Given the description of an element on the screen output the (x, y) to click on. 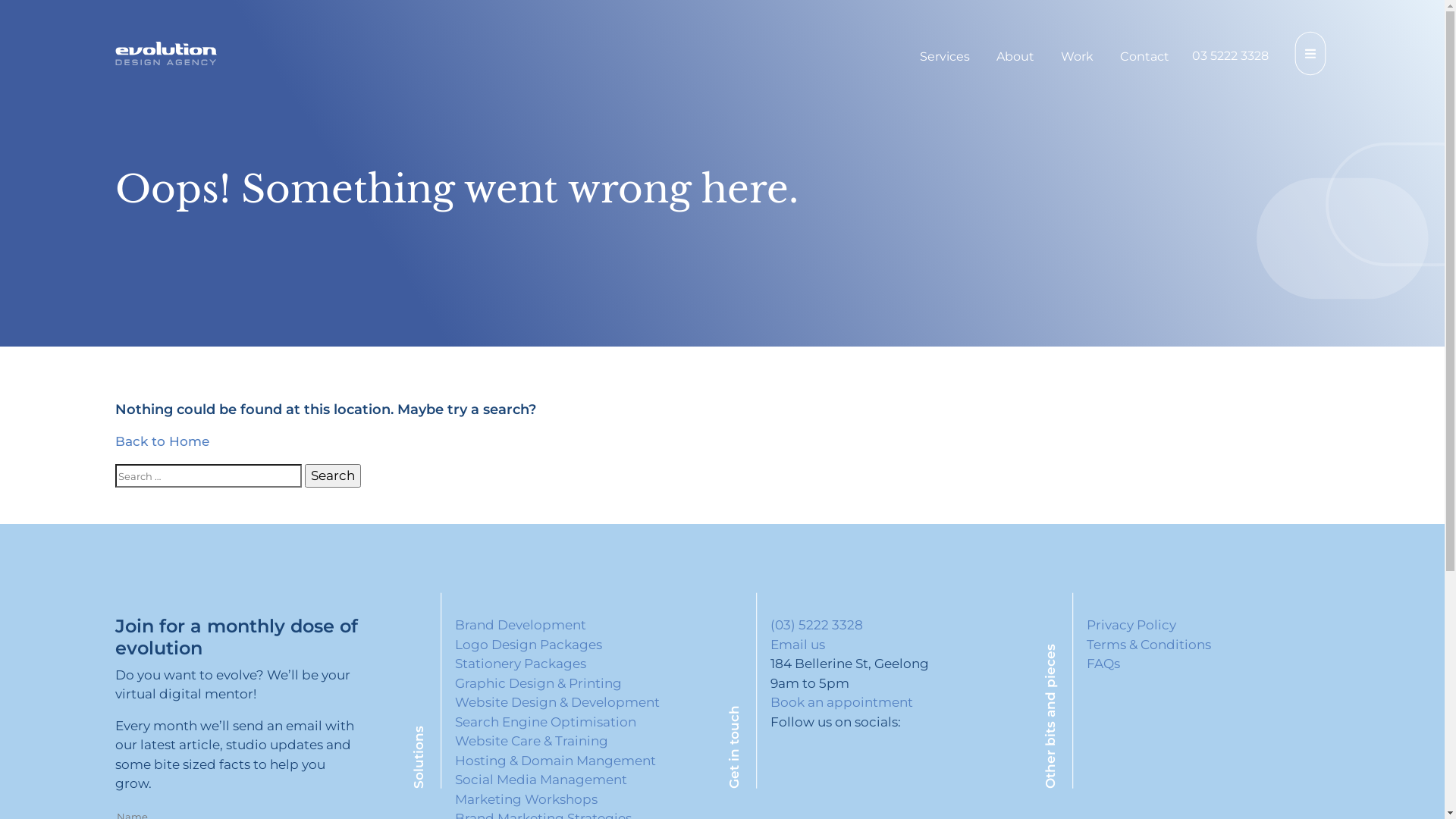
Work Element type: text (1076, 55)
Website Design & Development Element type: text (557, 701)
About Element type: text (1015, 55)
Logo Design Packages Element type: text (528, 644)
Hosting & Domain Mangement Element type: text (555, 759)
(03) 5222 3328 Element type: text (816, 624)
Privacy Policy Element type: text (1131, 624)
Brand Development Element type: text (520, 624)
Back to Home Element type: text (162, 440)
FAQs Element type: text (1103, 663)
Terms & Conditions Element type: text (1148, 644)
Search Engine Optimisation Element type: text (545, 721)
Graphic Design & Printing Element type: text (538, 682)
Email us Element type: text (797, 644)
Website Care & Training Element type: text (531, 740)
Stationery Packages Element type: text (520, 663)
Search Element type: text (332, 476)
Marketing Workshops Element type: text (526, 798)
Contact Element type: text (1144, 55)
03 5222 3328 Element type: text (1230, 56)
Social Media Management Element type: text (541, 779)
Book an appointment Element type: text (841, 701)
Services Element type: text (944, 55)
Search for Element type: hover (208, 476)
